Given the description of an element on the screen output the (x, y) to click on. 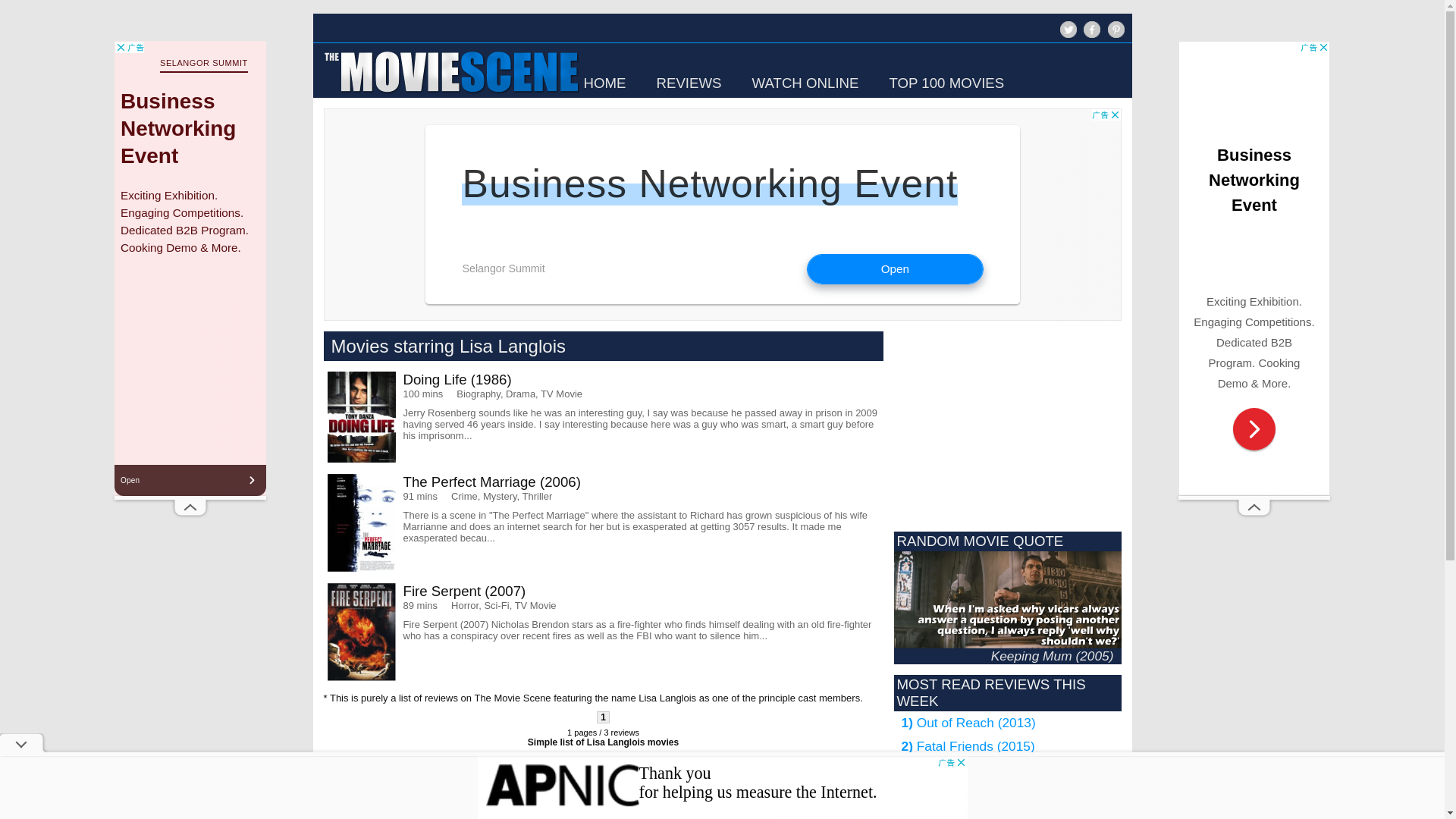
Follow The Movie Scene on Twitter (1068, 29)
Follow The Movie Scene on Pinterest (1115, 29)
Like The Movie Scene on facebook (1090, 37)
Simple List of movies starring Lisa Langlois (602, 742)
Click here for review of Doing Life (603, 416)
TOP 100 MOVIES (946, 83)
1 (603, 717)
REVIEWS (688, 83)
Click here for review of Fire Serpent (603, 631)
WATCH ONLINE (805, 83)
Simple list of Lisa Langlois movies (602, 742)
Advertisement (462, 792)
1 (603, 717)
The Movie Scene - homepage (449, 94)
